Given the description of an element on the screen output the (x, y) to click on. 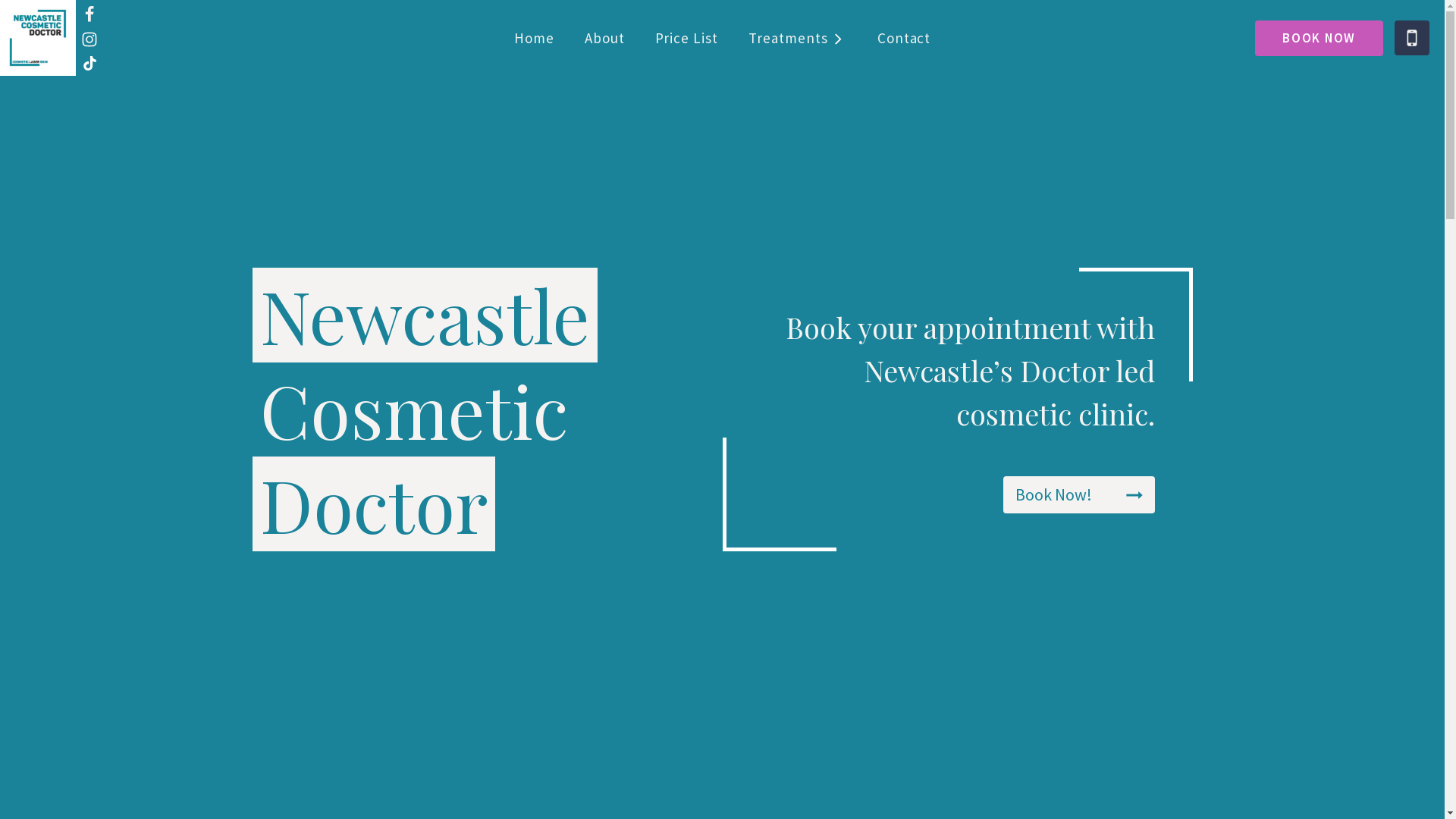
Contact Element type: text (904, 38)
About Element type: text (604, 38)
Treatments Element type: text (797, 38)
Home Element type: text (534, 38)
BOOK NOW Element type: text (1319, 37)
Book Now! Element type: text (1078, 494)
Price List Element type: text (686, 38)
